Given the description of an element on the screen output the (x, y) to click on. 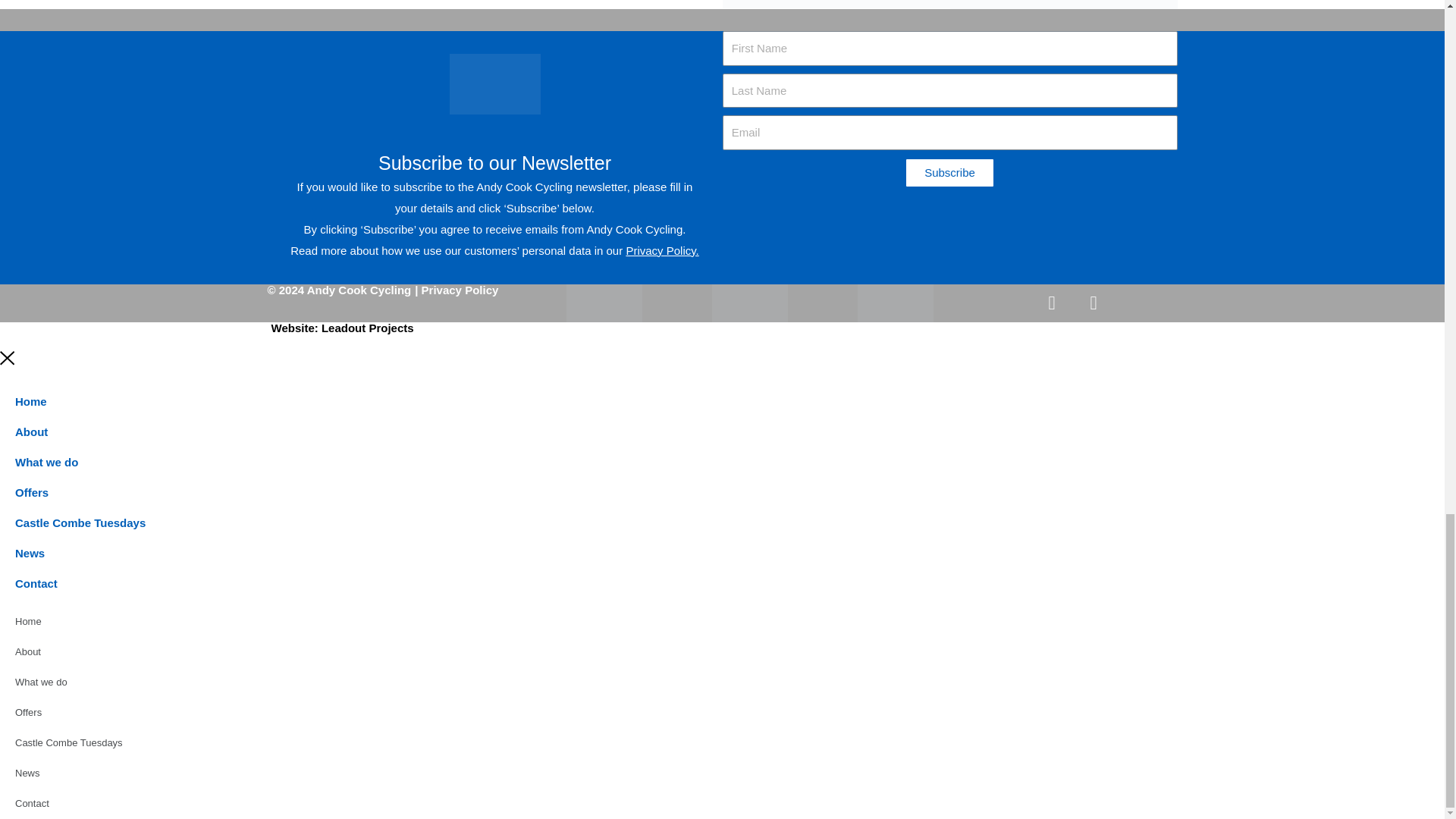
British-cycling-acc (604, 303)
Subscribe (949, 173)
Cycling-uk-acc (749, 303)
UCI-acc (895, 303)
Privacy Policy. (662, 250)
Website: Leadout Projects (341, 327)
